Given the description of an element on the screen output the (x, y) to click on. 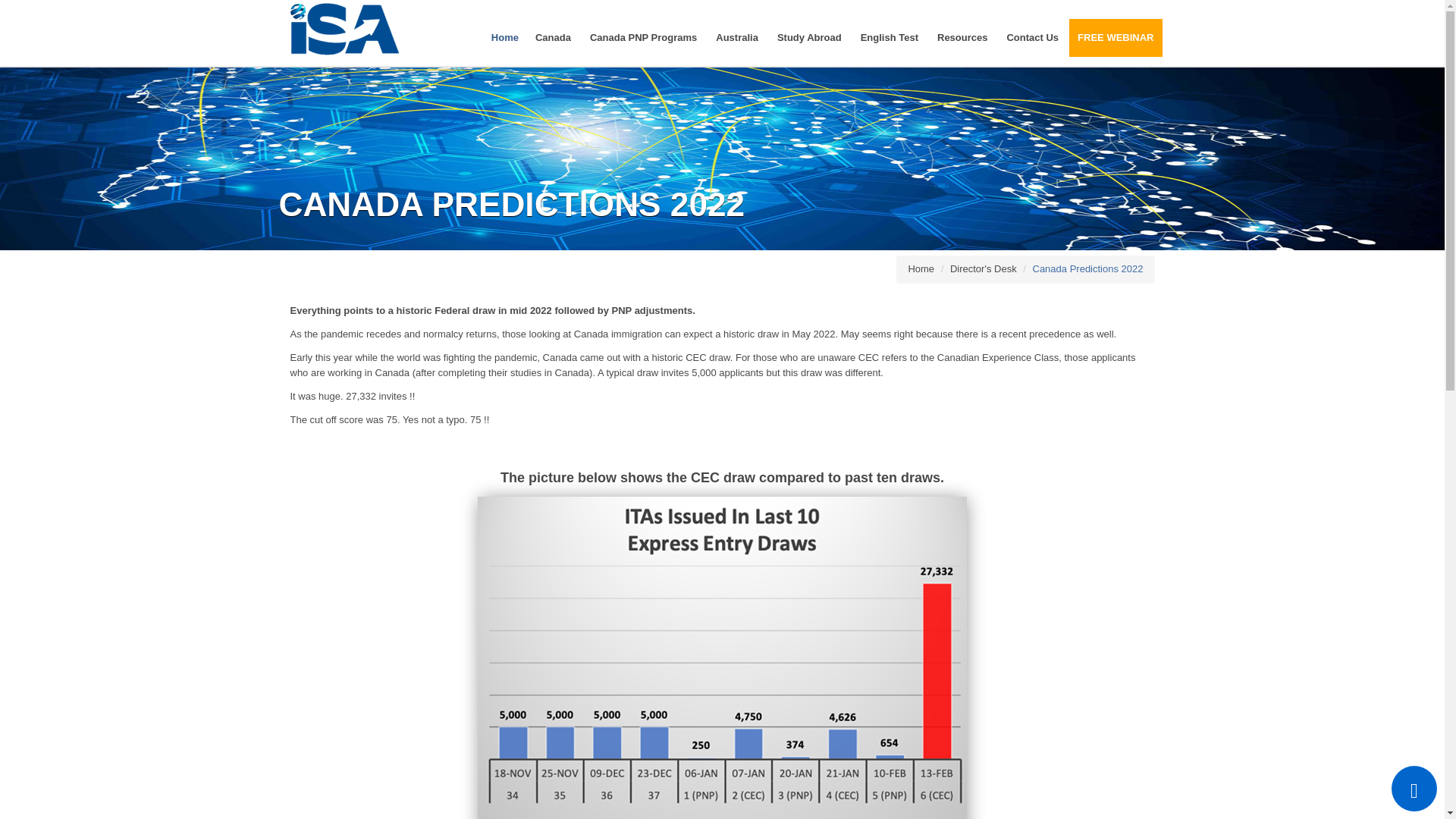
Canada (553, 37)
Home (505, 37)
Study Abroad (809, 37)
Resources (962, 37)
English Test (889, 37)
Australia (737, 37)
Canada PNP Programs (643, 37)
